Given the description of an element on the screen output the (x, y) to click on. 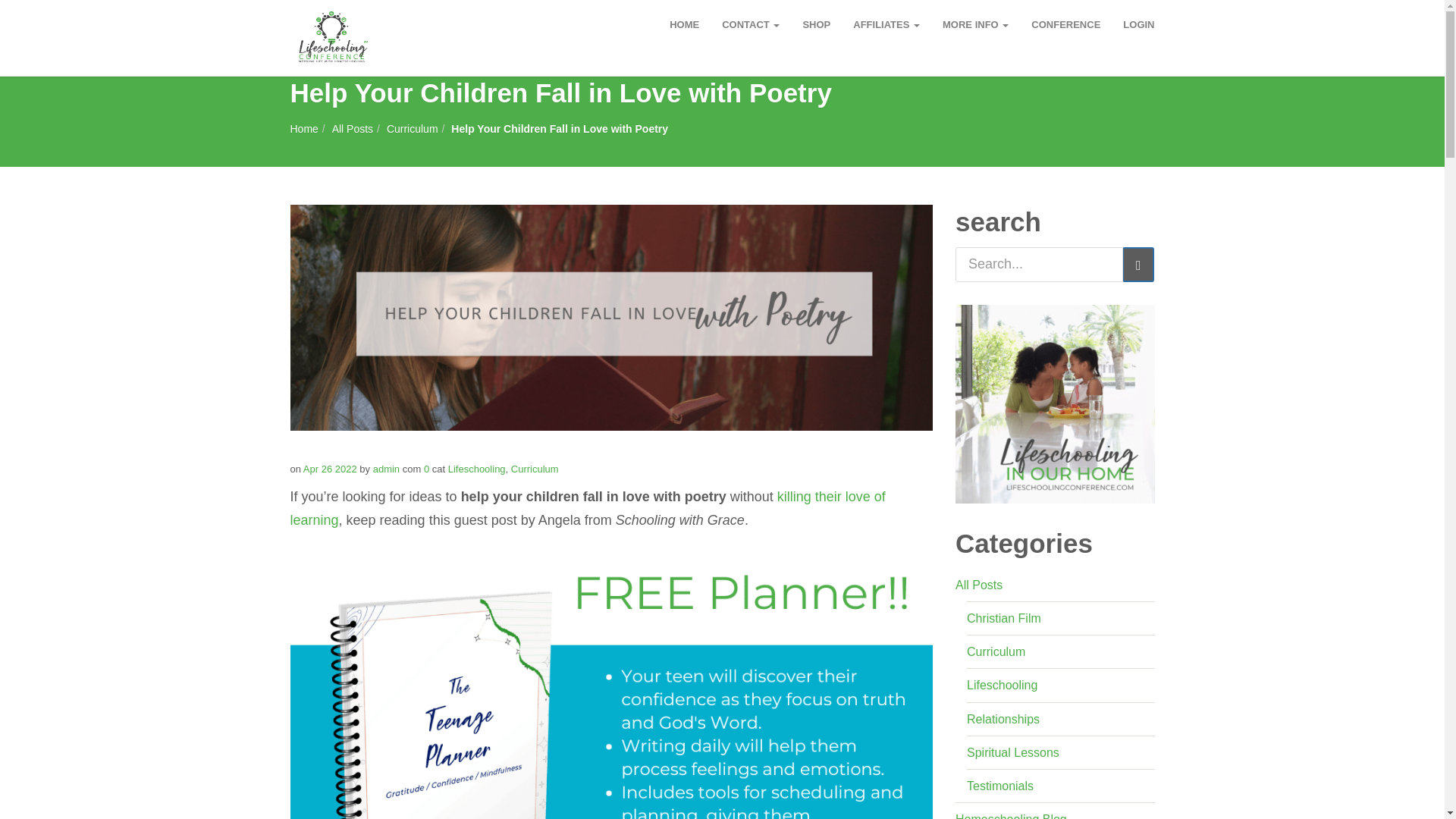
All Posts (351, 128)
Contact (750, 24)
CONFERENCE (1066, 24)
Affiliates (886, 24)
Lifeschooling (476, 469)
CONTACT (750, 24)
killing their love of learning (587, 507)
HOME (684, 24)
LOGIN (1139, 24)
Home (303, 128)
